Given the description of an element on the screen output the (x, y) to click on. 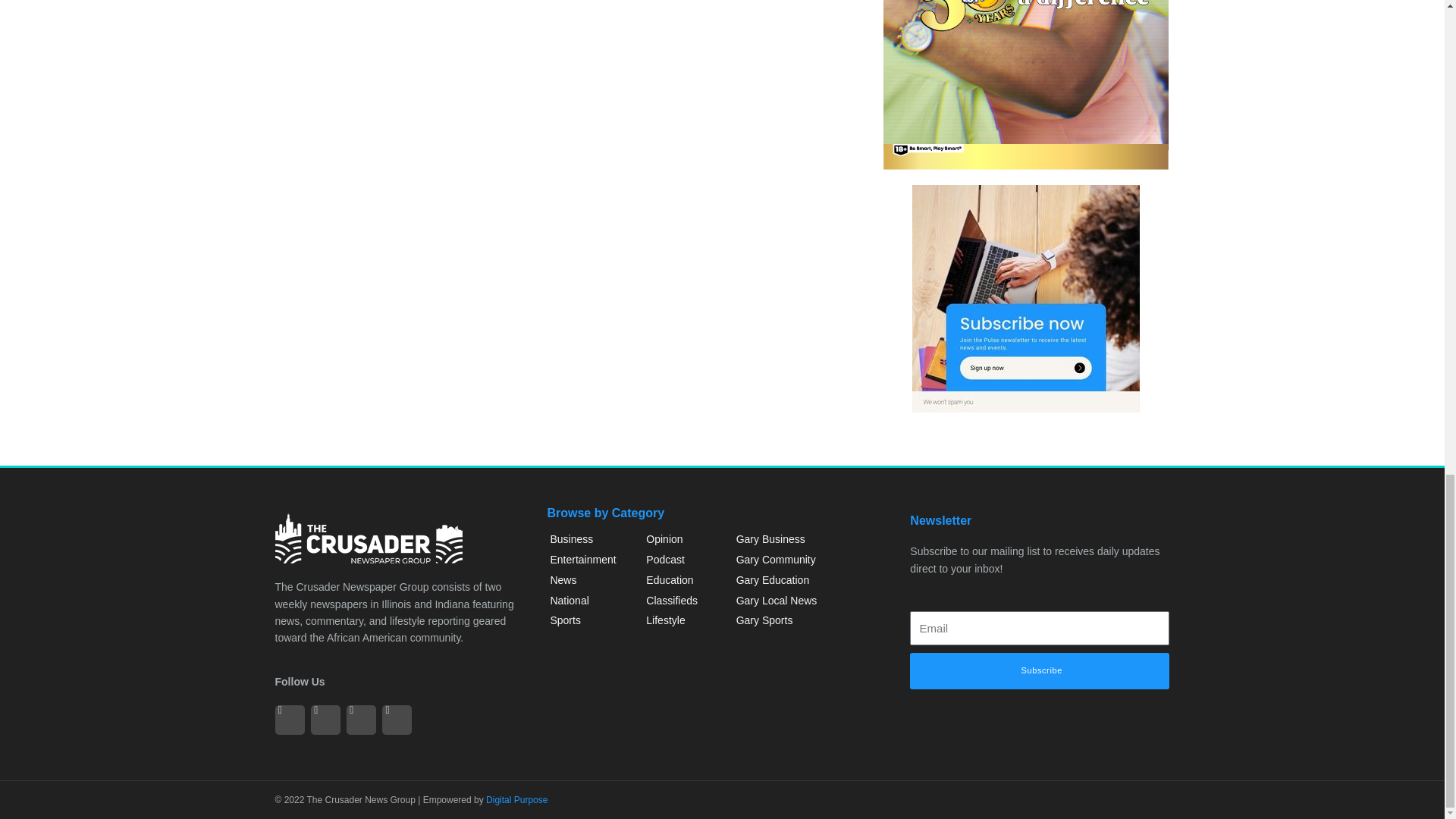
50th Anniversary-Lottery-RIGHT VERTICAL BANNER (1026, 84)
